Given the description of an element on the screen output the (x, y) to click on. 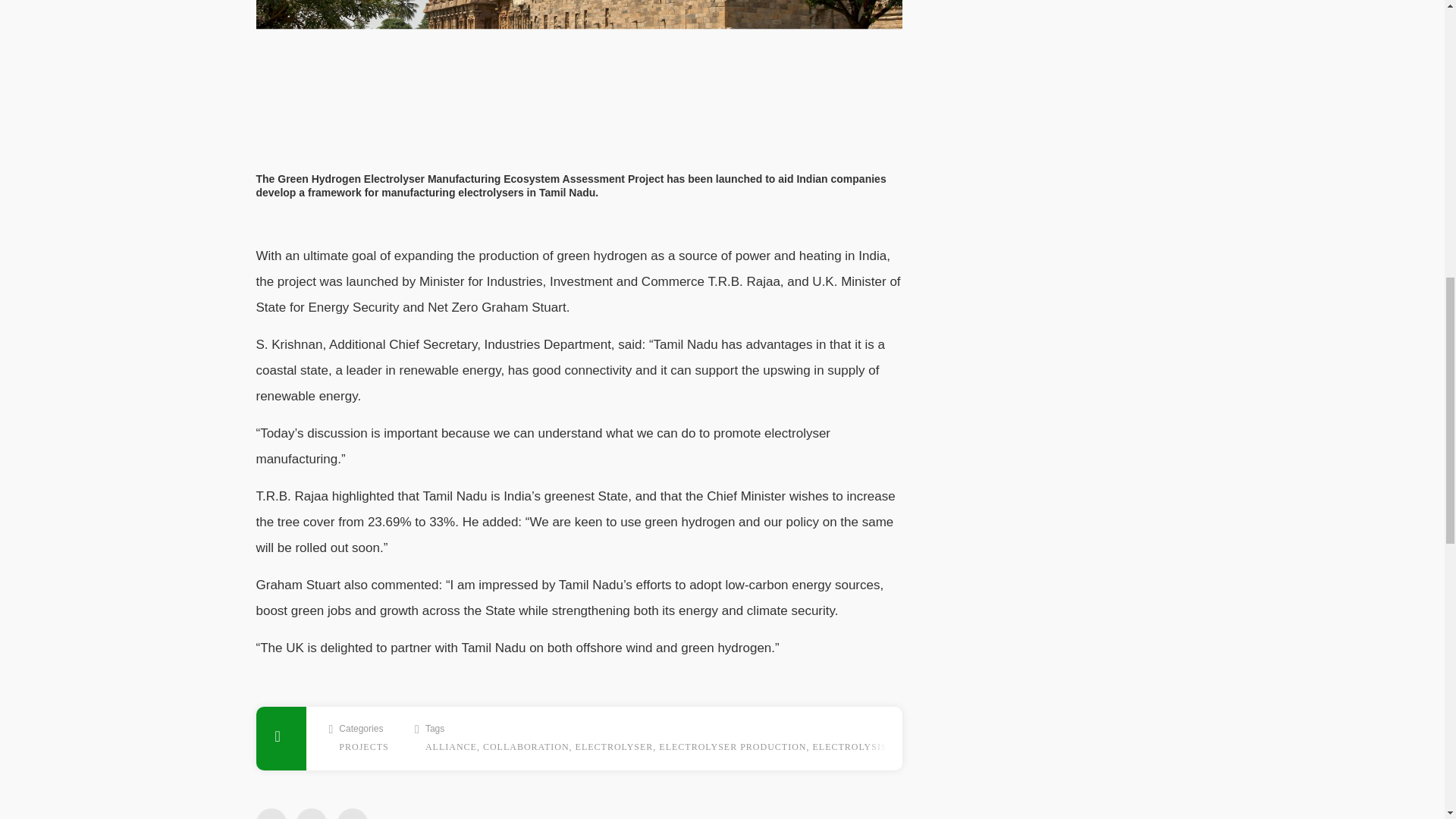
ELECTROLYSER (614, 747)
Share on Twitter (271, 813)
Email this (352, 813)
PROJECTS (363, 747)
ALLIANCE (451, 747)
How the UK Will Help India Manufacture Electrolysers (579, 75)
INDIA (908, 747)
ELECTROLYSIS (849, 747)
COLLABORATION (526, 747)
ELECTROLYSER PRODUCTION (732, 747)
